Given the description of an element on the screen output the (x, y) to click on. 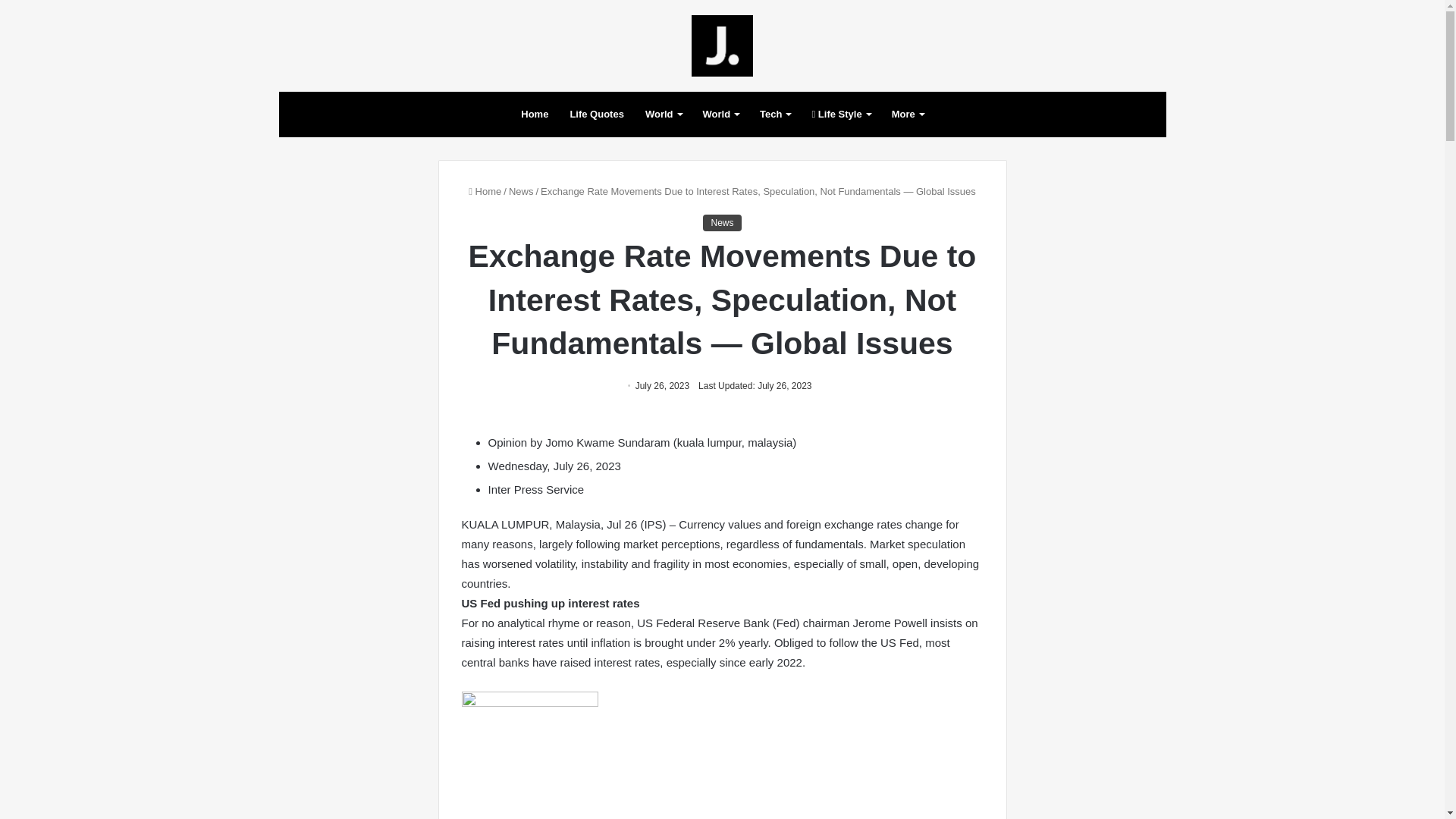
My Blog (721, 45)
Tech (774, 114)
Life Quotes (596, 114)
More (907, 114)
Home (535, 114)
World (663, 114)
World (720, 114)
Life Style (840, 114)
